Given the description of an element on the screen output the (x, y) to click on. 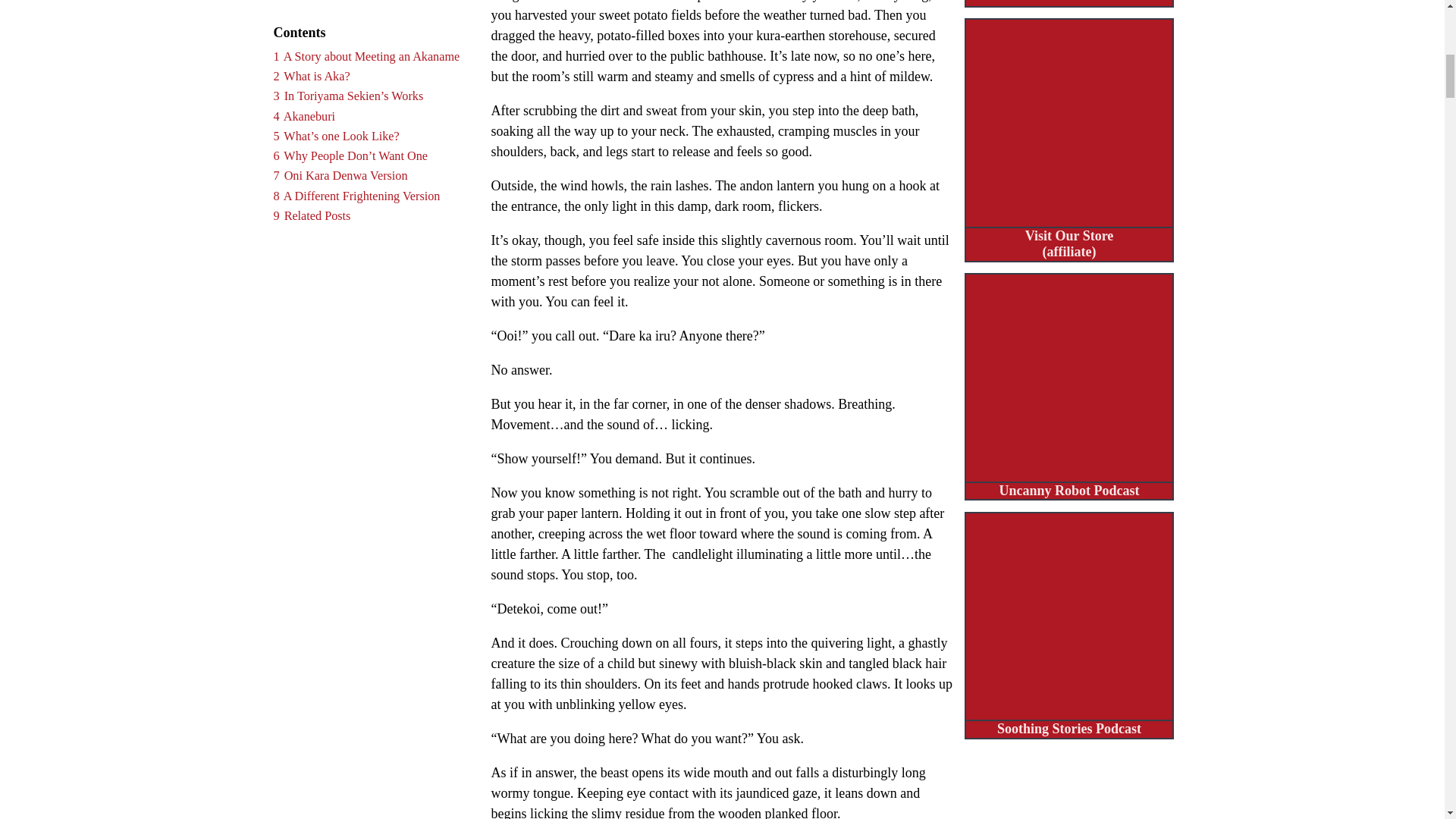
Uncanny Robot Podcast (1069, 391)
Soothing Stories Podcast (1069, 630)
